Given the description of an element on the screen output the (x, y) to click on. 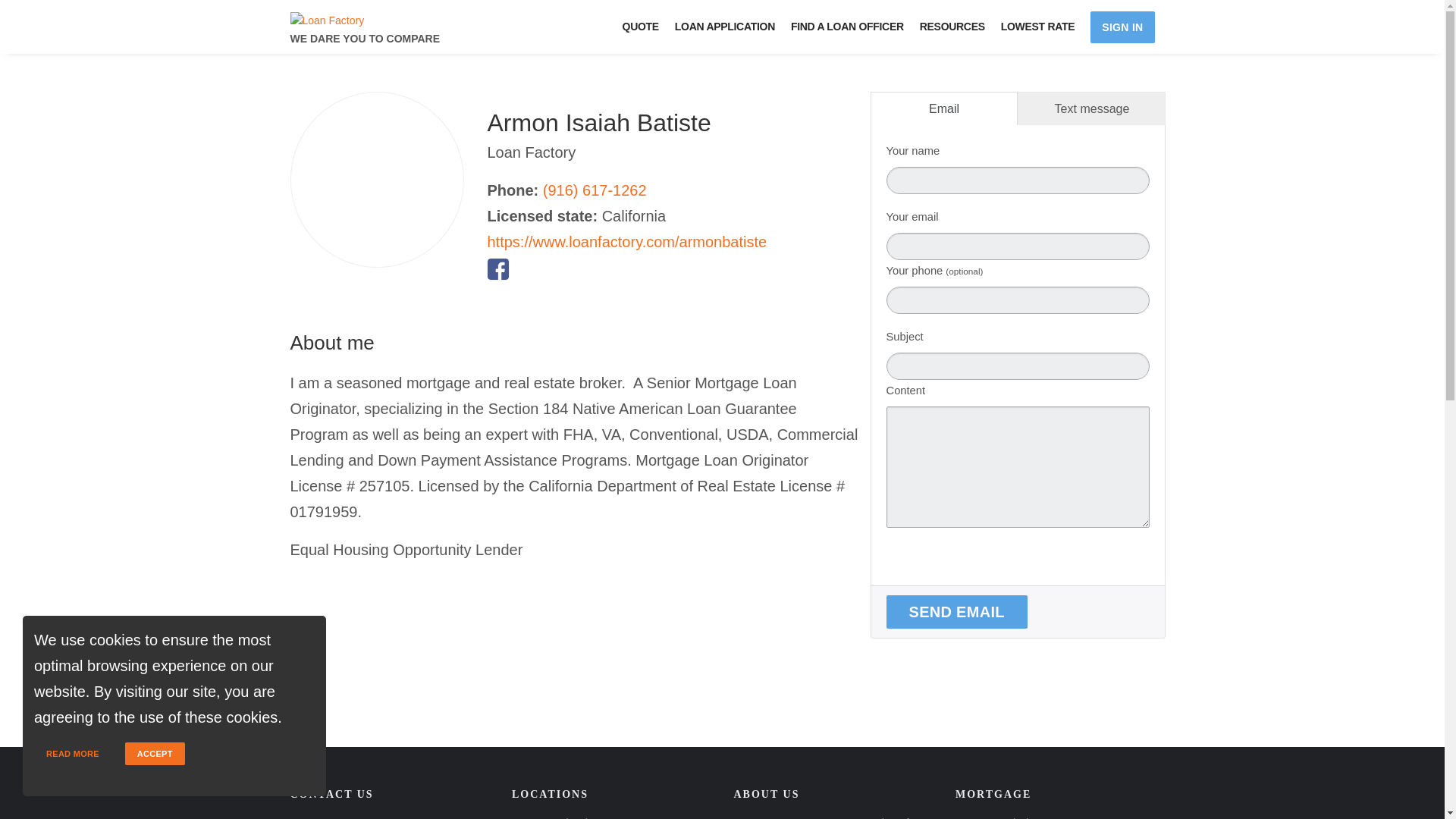
Text message (1091, 108)
LOAN APPLICATION (732, 27)
QUOTE (647, 27)
Email (943, 108)
SIGN IN (1122, 27)
FIND A LOAN OFFICER (854, 27)
SEND EMAIL (955, 611)
SIGN IN (1122, 27)
RESOURCES (959, 27)
LOWEST RATE (1045, 27)
